Given the description of an element on the screen output the (x, y) to click on. 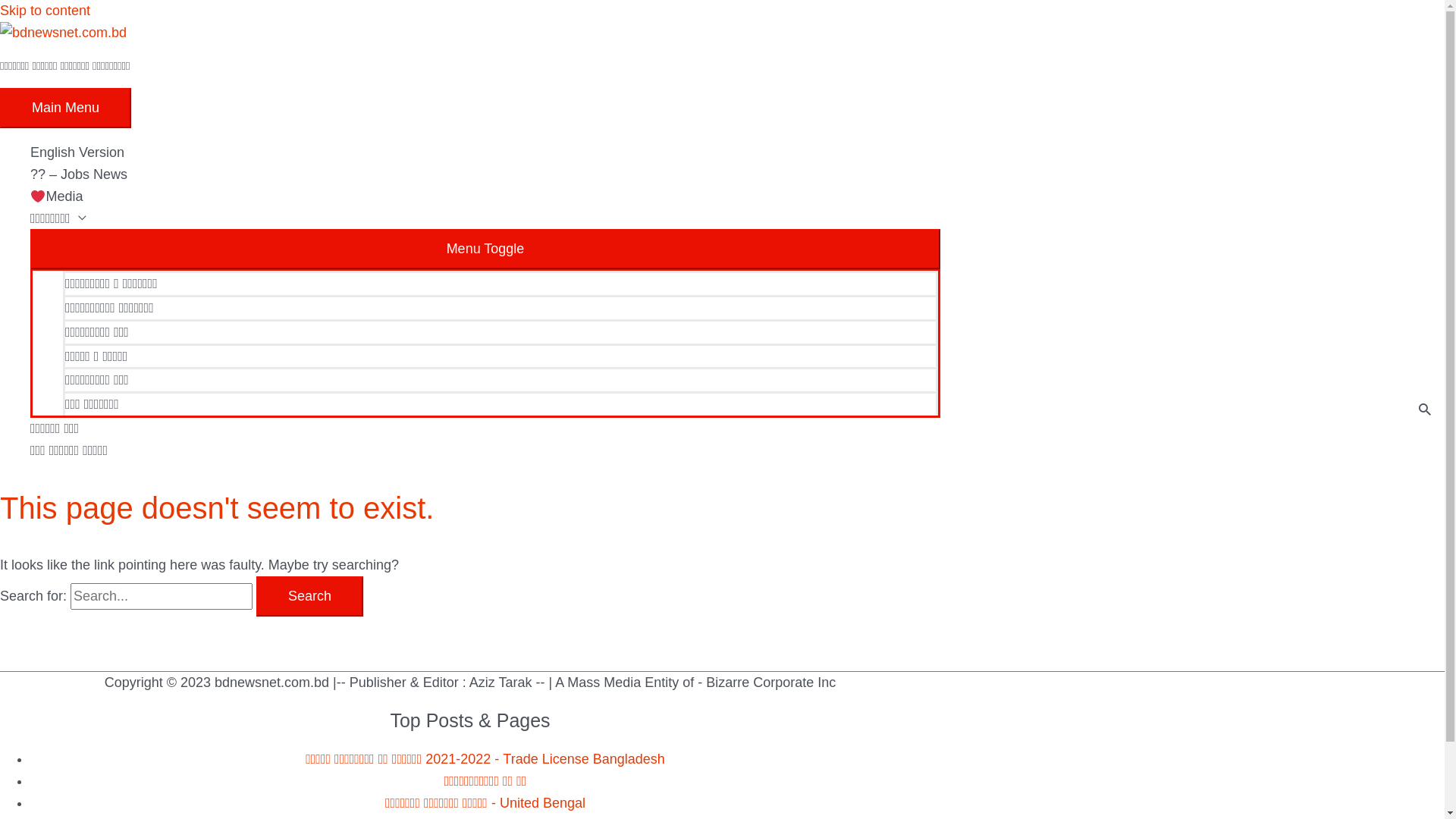
Search Element type: text (309, 596)
English Version Element type: text (485, 152)
Skip to content Element type: text (45, 10)
Menu Toggle Element type: text (485, 249)
Media Element type: text (485, 196)
Main Menu Element type: text (65, 107)
